Given the description of an element on the screen output the (x, y) to click on. 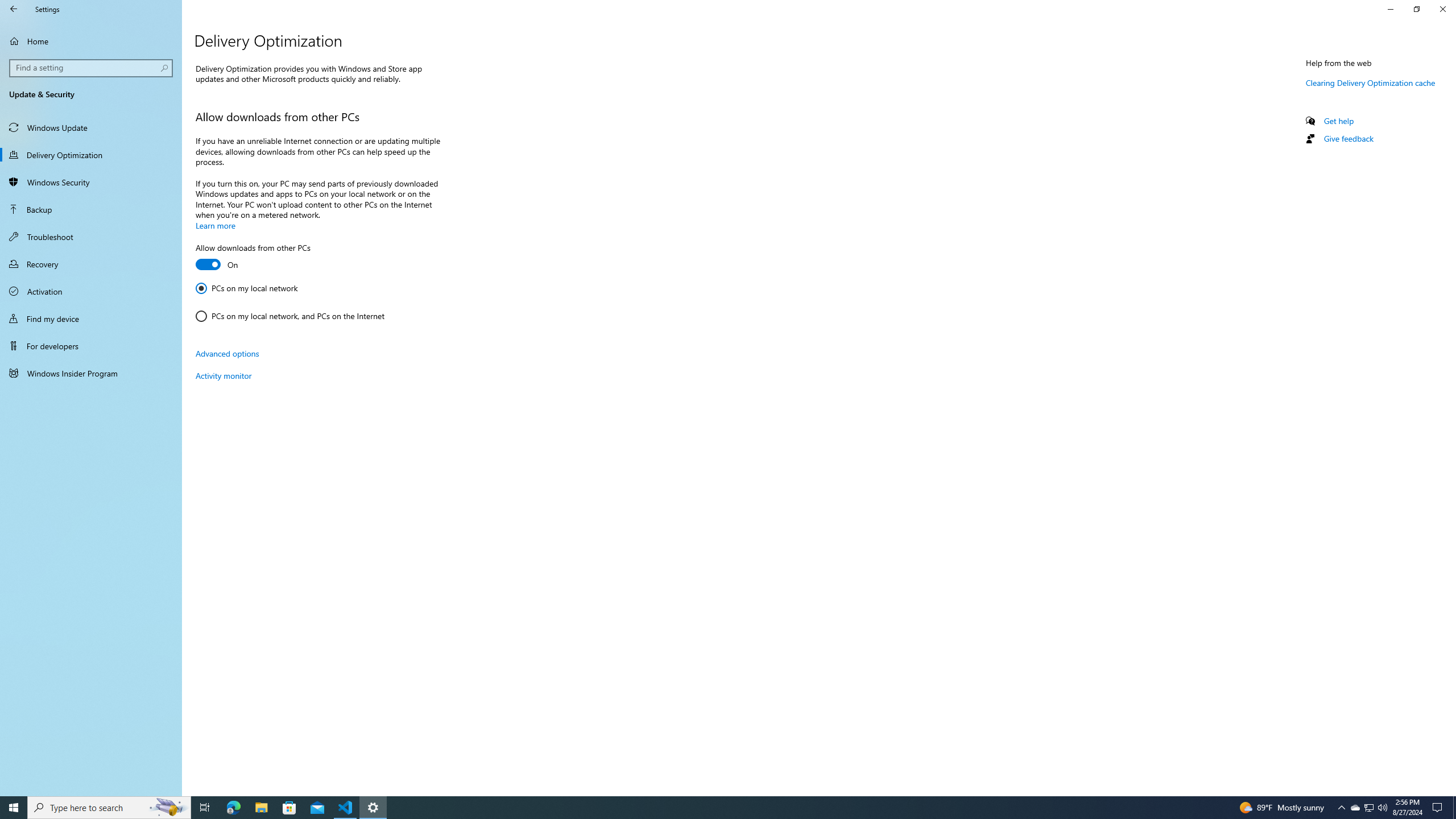
Close Settings (1442, 9)
Windows Insider Program (91, 372)
For developers (91, 345)
Troubleshoot (91, 236)
Windows Security (91, 181)
File Explorer (261, 807)
Give feedback (1348, 138)
Delivery Optimization (91, 154)
Activity monitor (1355, 807)
Find my device (223, 375)
Get help (91, 318)
Running applications (1338, 120)
Restore Settings (717, 807)
Microsoft Store (1416, 9)
